Given the description of an element on the screen output the (x, y) to click on. 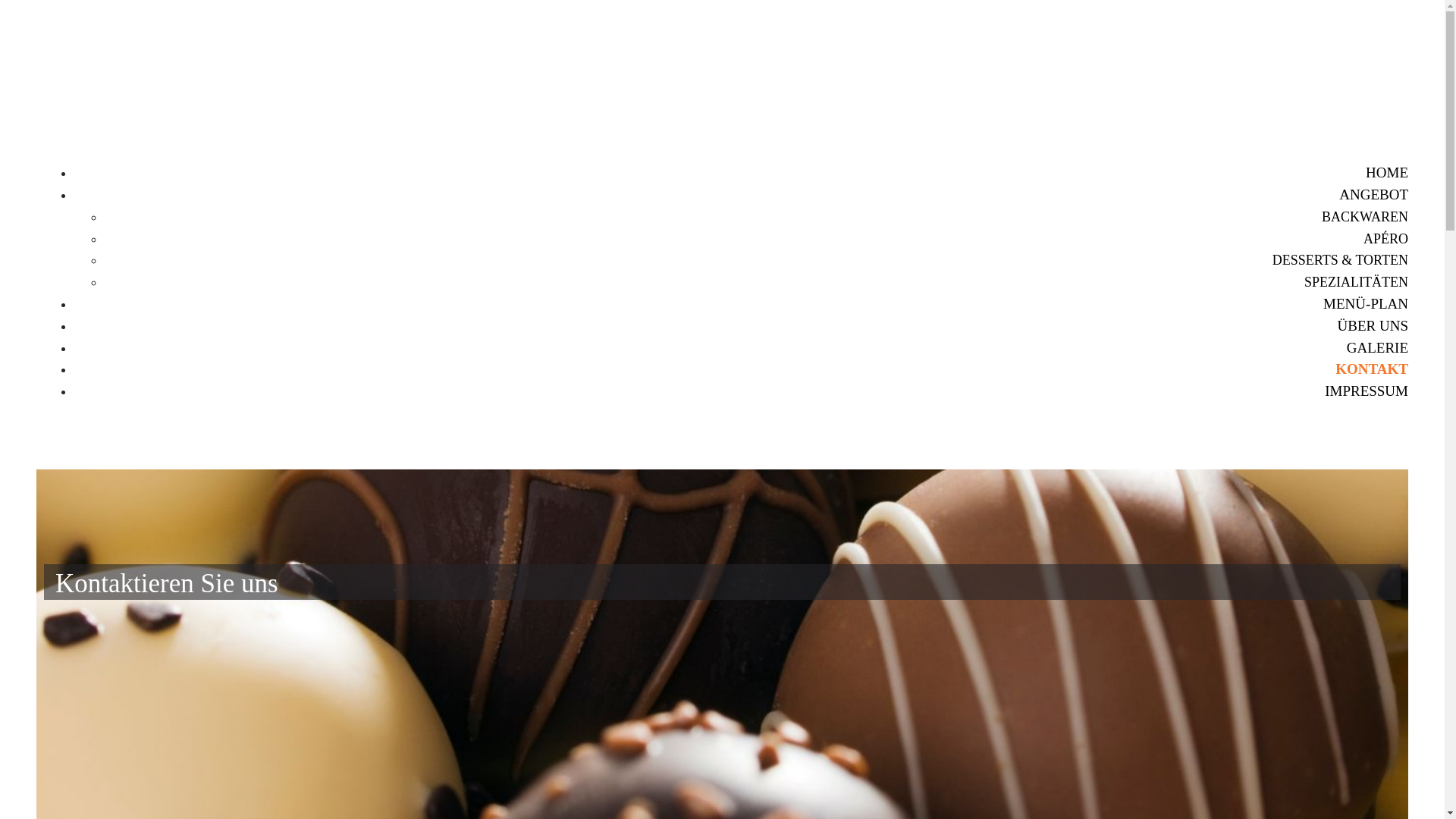
BACKWAREN Element type: text (1361, 218)
HOME Element type: text (1386, 172)
KONTAKT Element type: text (1371, 368)
DESSERTS & TORTEN Element type: text (1336, 261)
IMPRESSUM Element type: text (1366, 390)
ANGEBOT Element type: text (1373, 194)
GALERIE Element type: text (1377, 347)
